Given the description of an element on the screen output the (x, y) to click on. 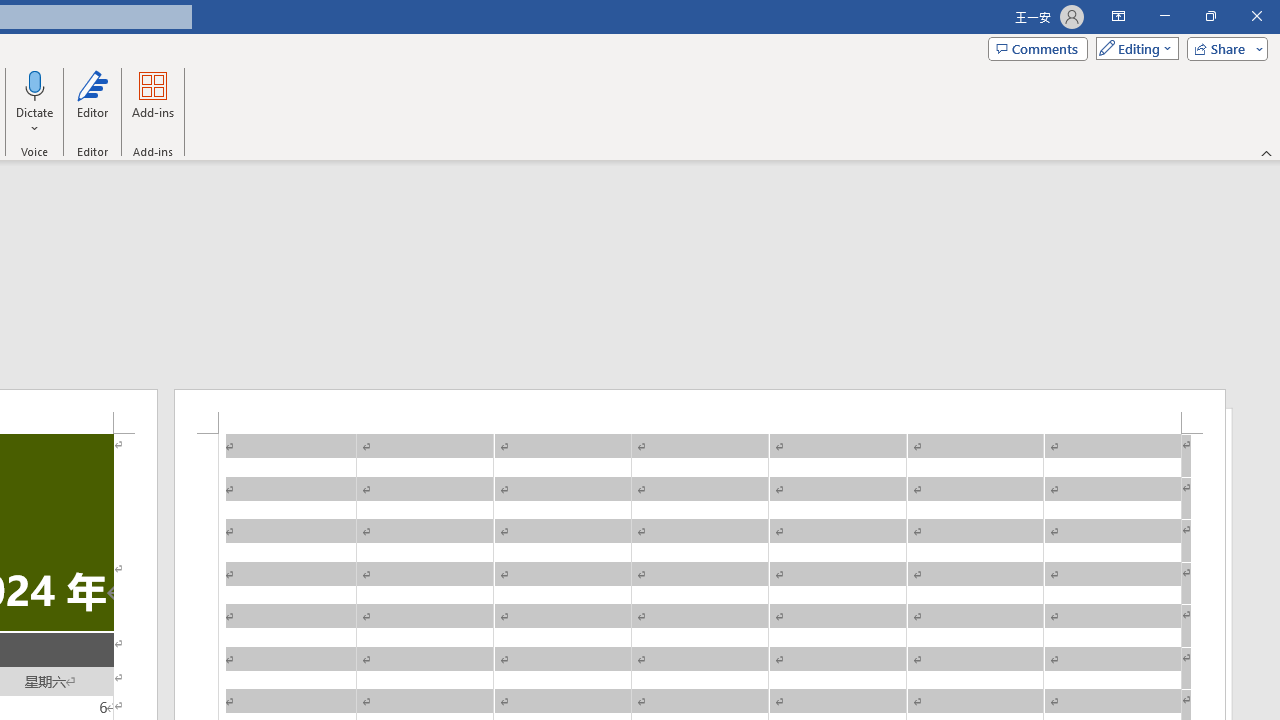
Editor (92, 102)
